Given the description of an element on the screen output the (x, y) to click on. 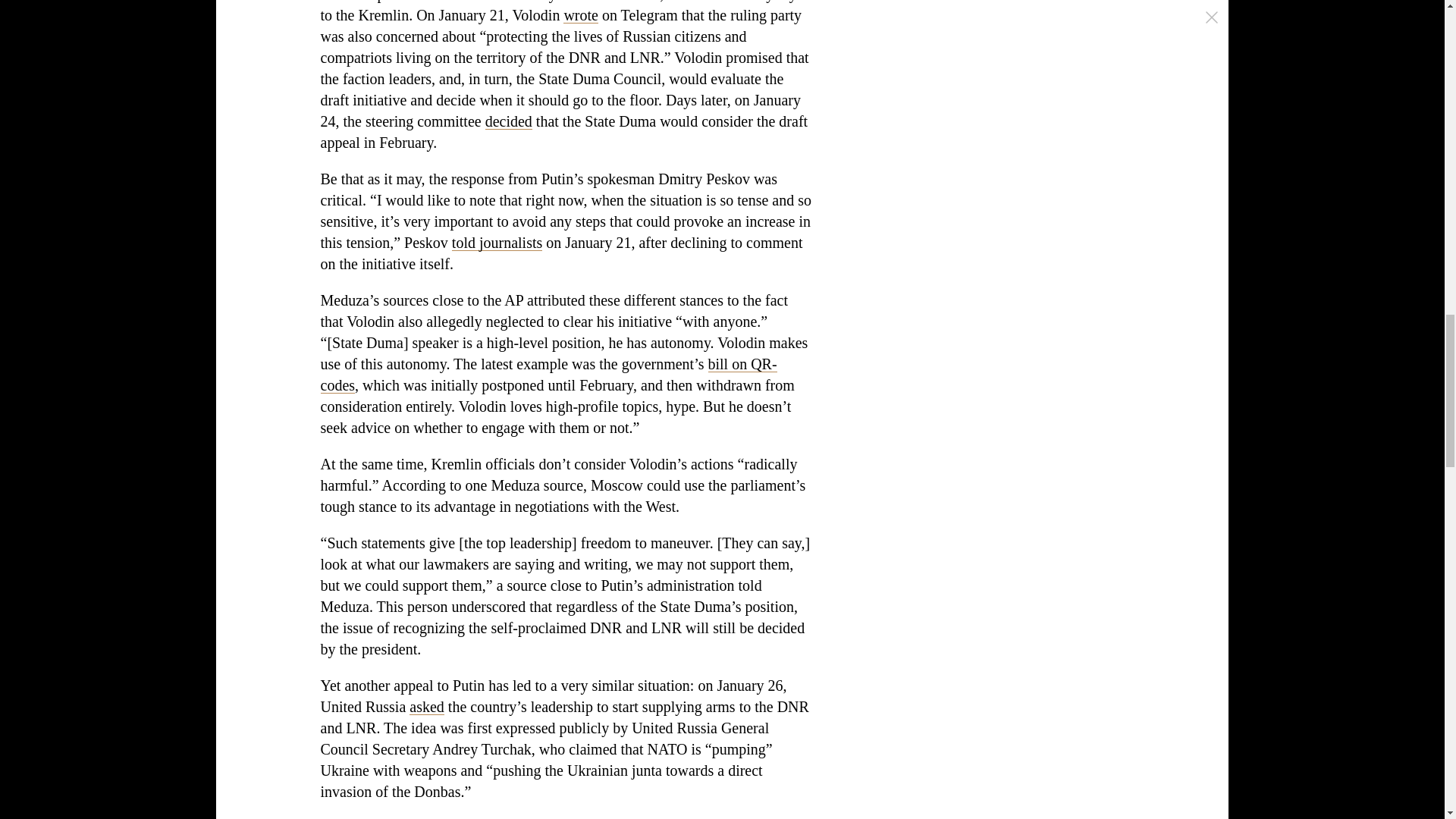
decided (508, 121)
wrote (580, 14)
asked (426, 706)
bill on QR-codes (548, 374)
told journalists (496, 242)
